Given the description of an element on the screen output the (x, y) to click on. 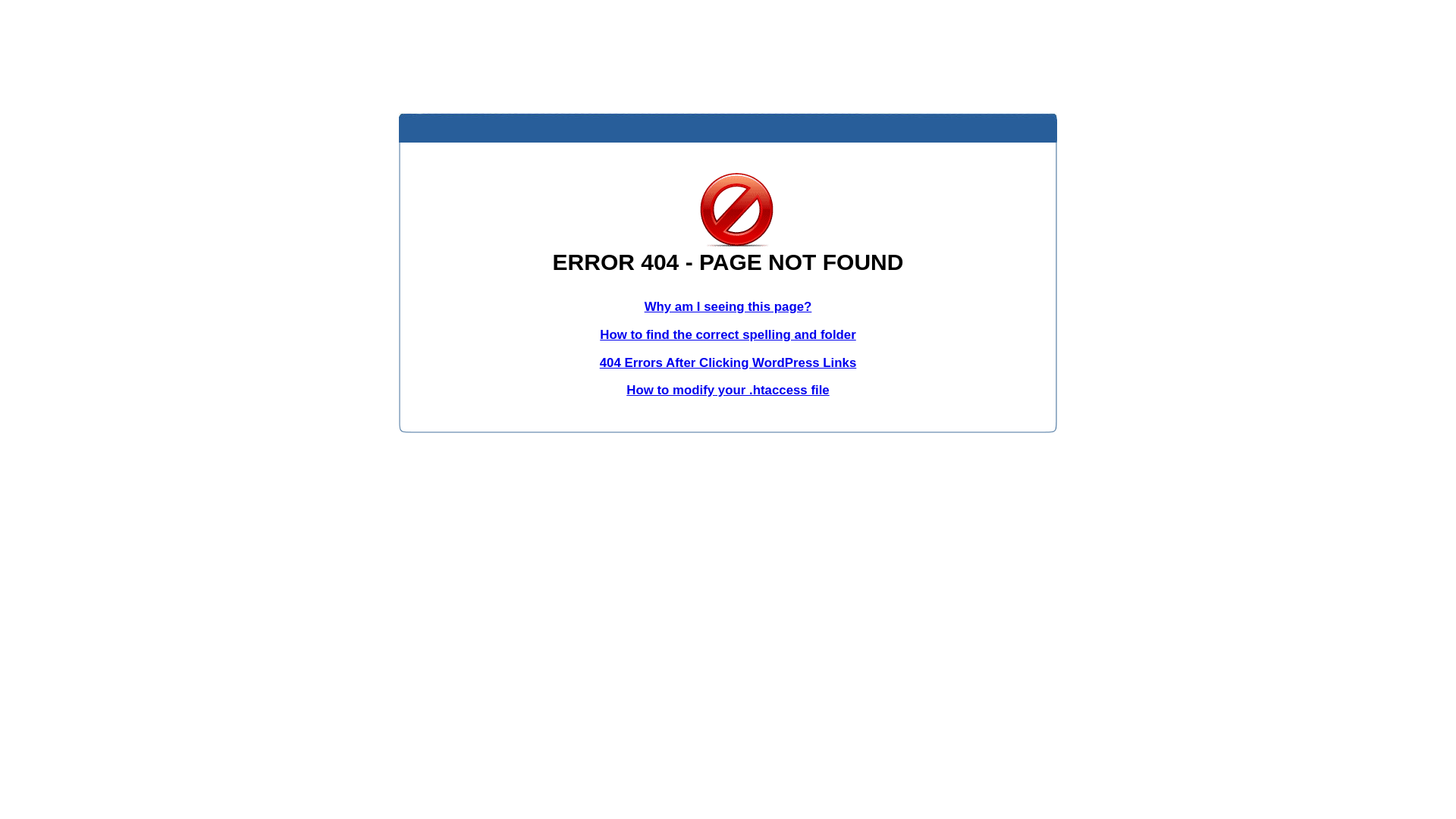
404 Errors After Clicking WordPress Links Element type: text (727, 362)
How to modify your .htaccess file Element type: text (727, 389)
Why am I seeing this page? Element type: text (728, 306)
How to find the correct spelling and folder Element type: text (727, 334)
